Given the description of an element on the screen output the (x, y) to click on. 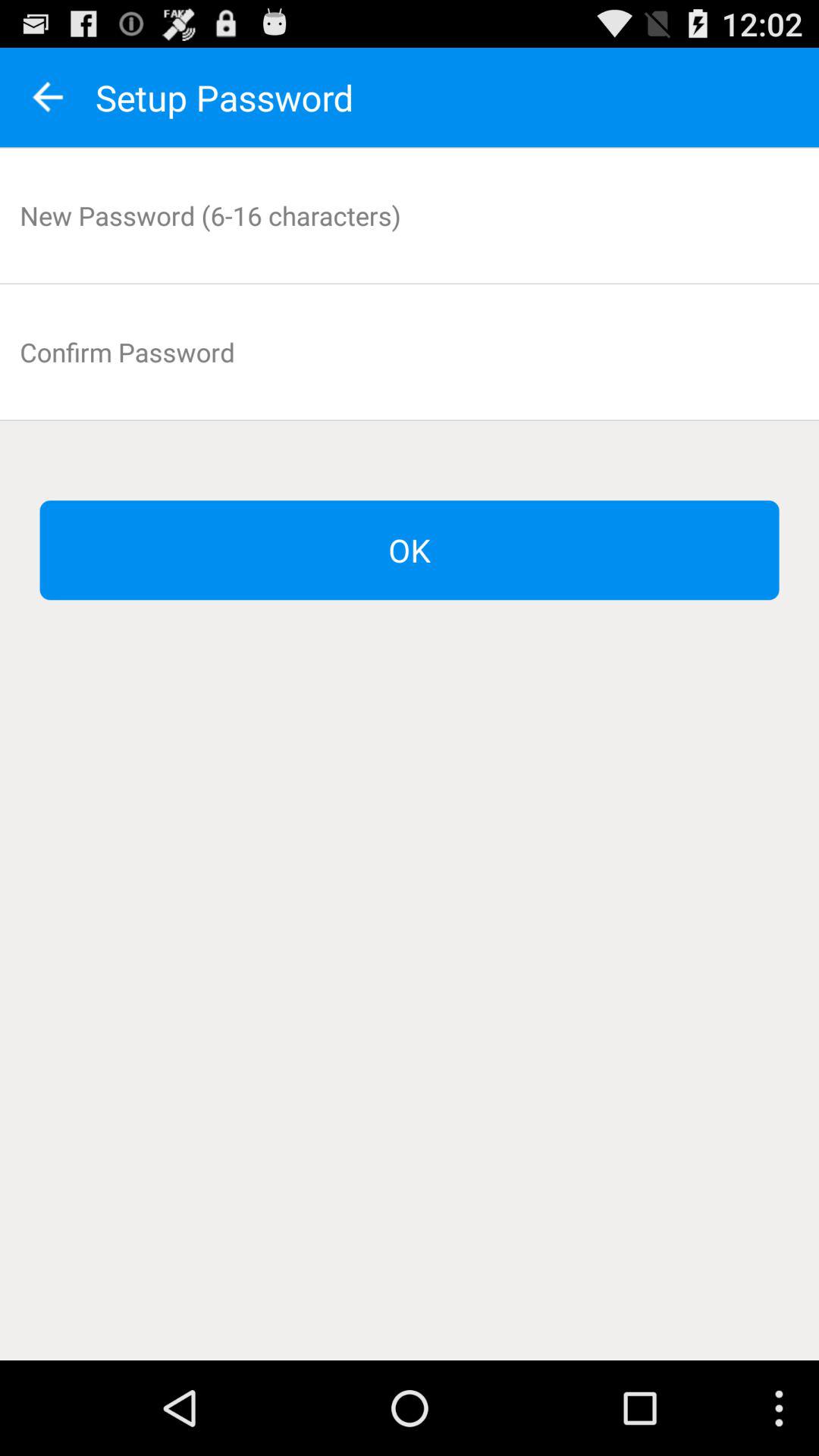
confirm password field (409, 351)
